Given the description of an element on the screen output the (x, y) to click on. 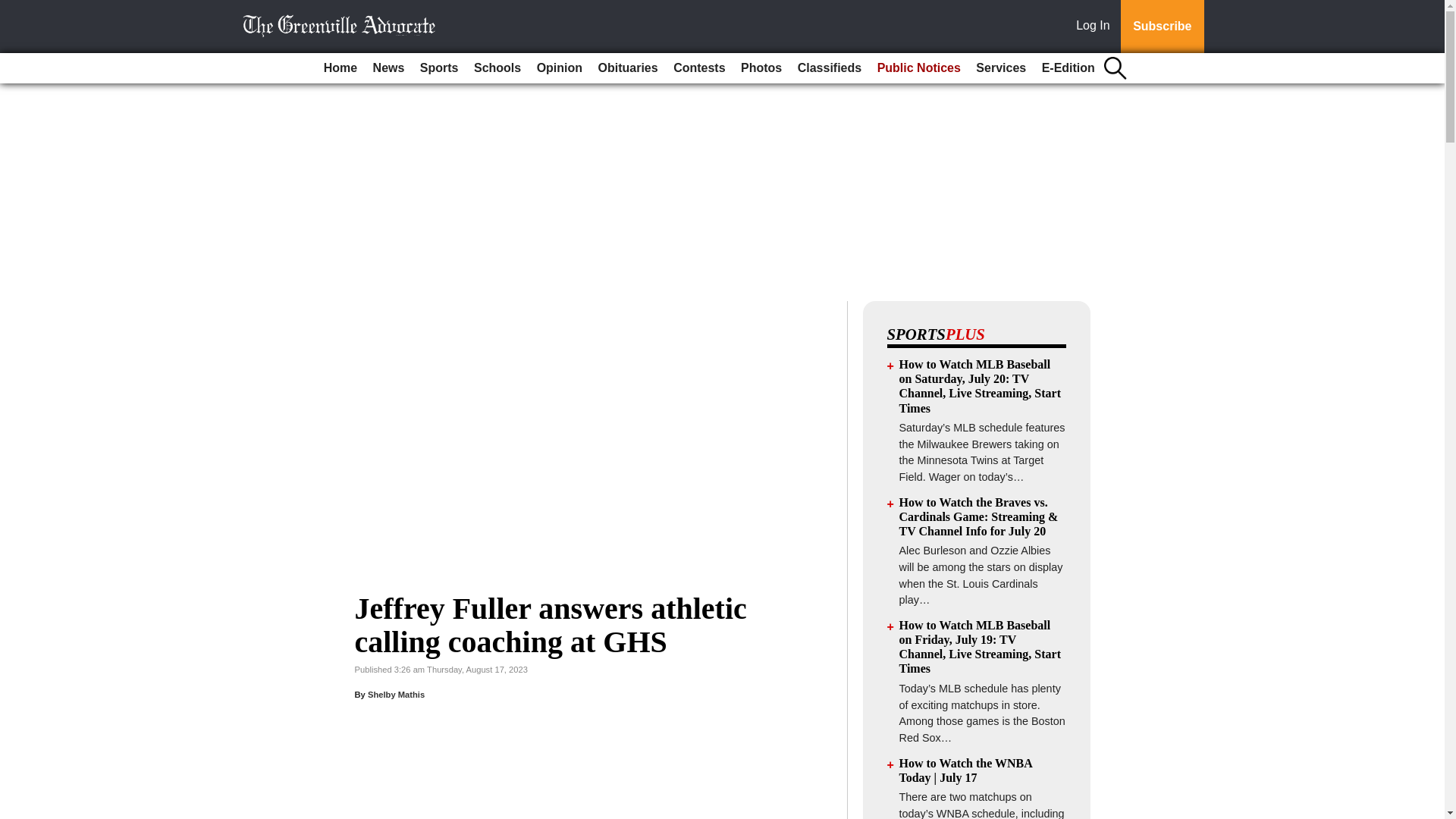
Contests (698, 68)
Go (13, 9)
Subscribe (1162, 26)
Schools (497, 68)
E-Edition (1067, 68)
Photos (761, 68)
Shelby Mathis (396, 694)
Classifieds (829, 68)
Services (1000, 68)
Log In (1095, 26)
Obituaries (627, 68)
News (388, 68)
Sports (438, 68)
Public Notices (918, 68)
